Given the description of an element on the screen output the (x, y) to click on. 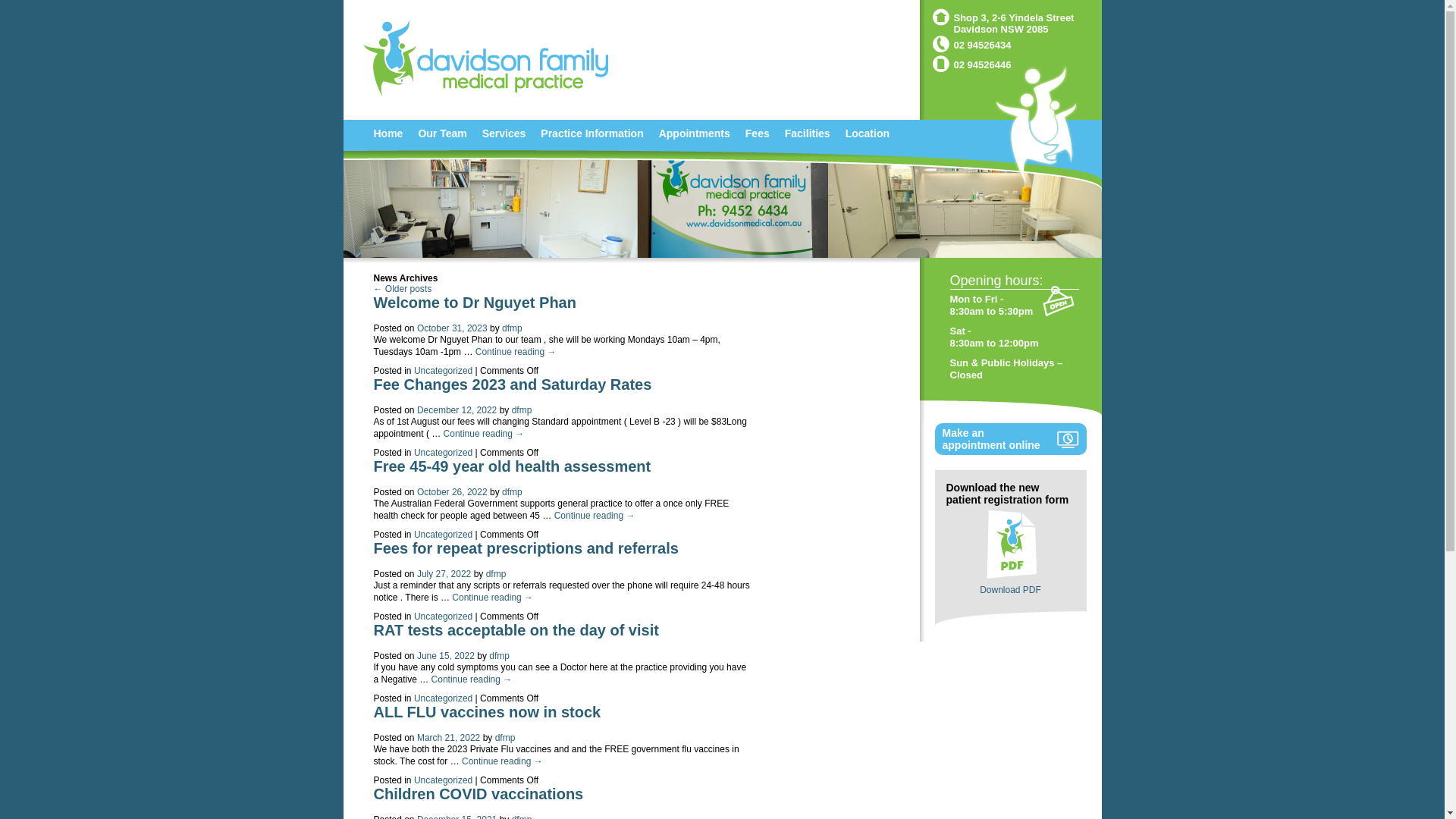
ALL FLU vaccines now in stock Element type: text (486, 711)
dfmp Element type: text (521, 409)
October 31, 2023 Element type: text (452, 328)
Uncategorized Element type: text (443, 780)
Home Element type: text (387, 133)
RAT tests acceptable on the day of visit Element type: text (515, 629)
Location Element type: text (867, 133)
July 27, 2022 Element type: text (443, 573)
Uncategorized Element type: text (443, 616)
Practice Information Element type: text (591, 133)
Uncategorized Element type: text (443, 370)
Fees for repeat prescriptions and referrals Element type: text (525, 547)
Uncategorized Element type: text (443, 698)
December 12, 2022 Element type: text (456, 409)
dfmp Element type: text (512, 328)
Uncategorized Element type: text (443, 534)
Children COVID vaccinations Element type: text (478, 793)
October 26, 2022 Element type: text (452, 491)
Welcome to Dr Nguyet Phan Element type: text (474, 302)
Uncategorized Element type: text (443, 452)
Our Team Element type: text (441, 133)
Services Element type: text (503, 133)
dfmp Element type: text (496, 573)
Make an appointment online Element type: text (1009, 439)
Appointments Element type: text (694, 133)
June 15, 2022 Element type: text (445, 655)
dfmp Element type: text (505, 737)
Fees Element type: text (757, 133)
Facilities Element type: text (807, 133)
dfmp Element type: text (512, 491)
Free 45-49 year old health assessment Element type: text (511, 466)
March 21, 2022 Element type: text (448, 737)
Fee Changes 2023 and Saturday Rates Element type: text (512, 384)
Download PDF Element type: text (1010, 589)
dfmp Element type: text (499, 655)
